Given the description of an element on the screen output the (x, y) to click on. 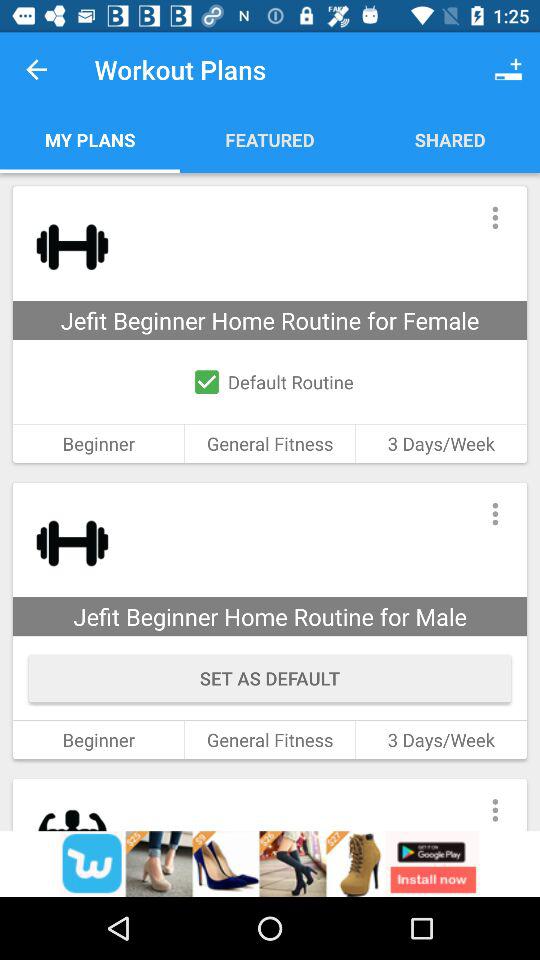
more chioces (494, 804)
